Given the description of an element on the screen output the (x, y) to click on. 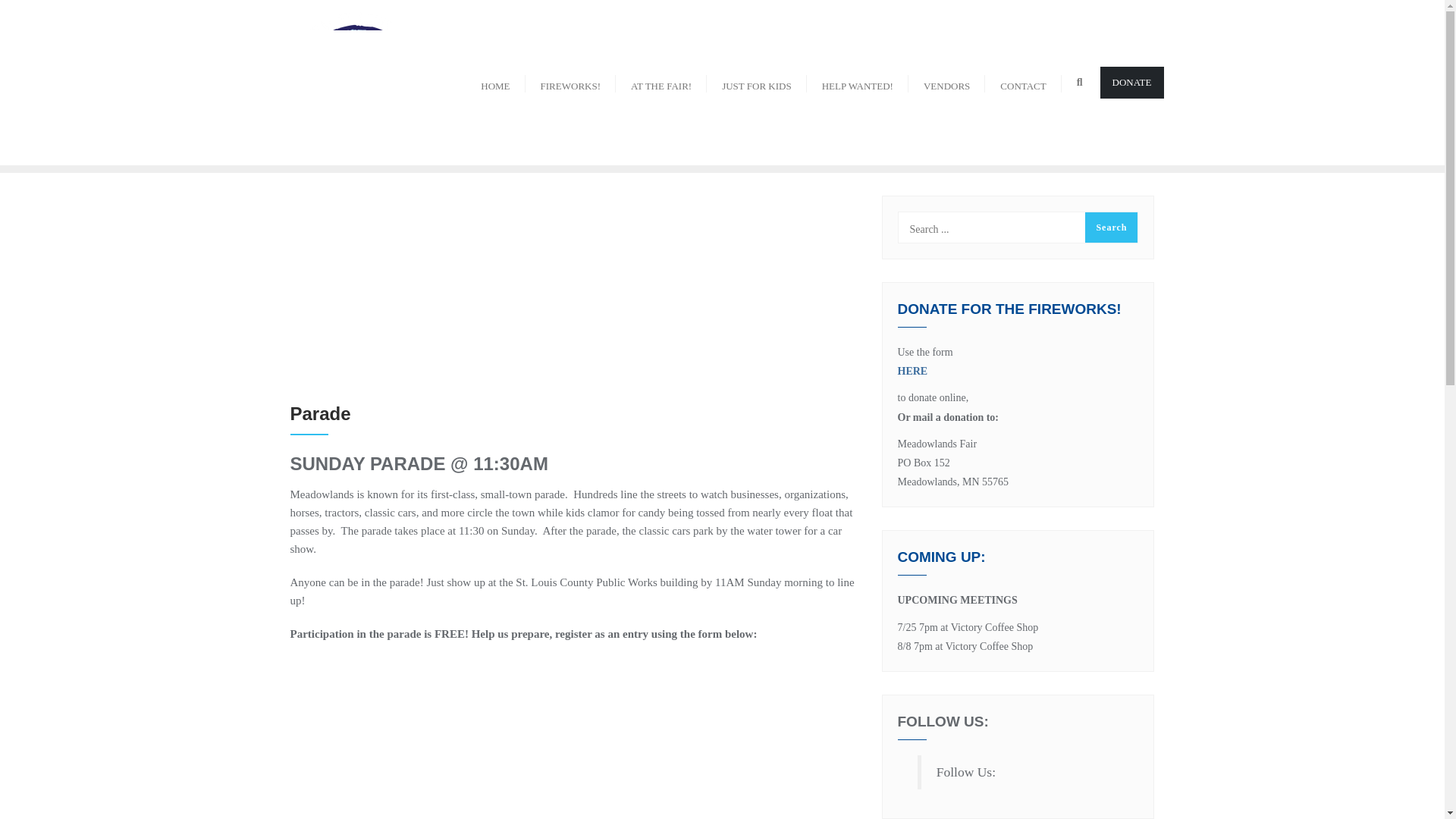
Search (1110, 227)
HOME (494, 82)
VENDORS (946, 82)
HELP WANTED! (857, 82)
Parade (574, 289)
FIREWORKS! (570, 82)
FOLLOW US: (943, 721)
Search (1110, 227)
CONTACT (1023, 82)
HERE (1018, 370)
